Given the description of an element on the screen output the (x, y) to click on. 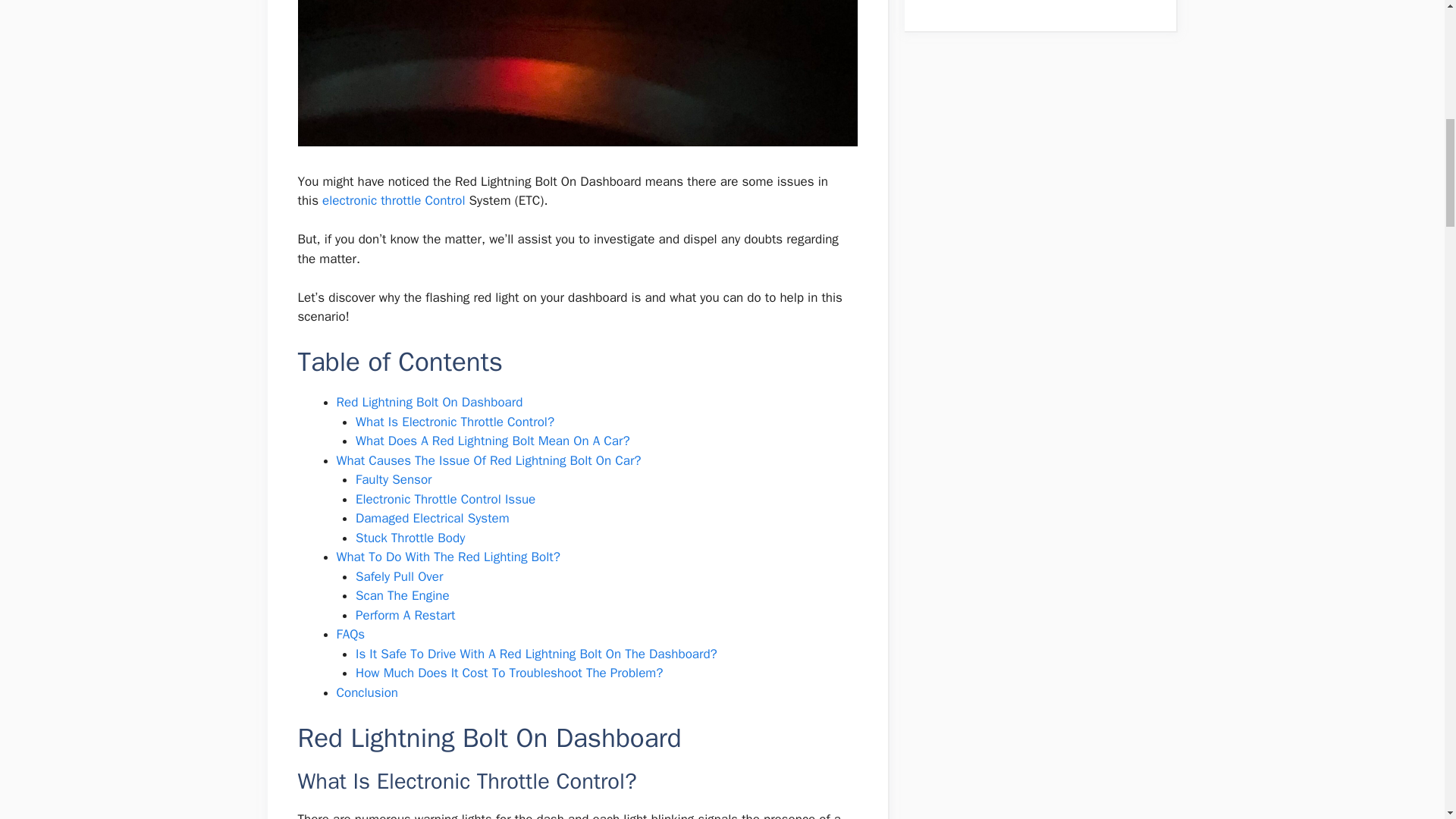
Stuck Throttle Body (409, 537)
Scroll back to top (1406, 720)
What Causes The Issue Of Red Lightning Bolt On Car? (489, 460)
What Does A Red Lightning Bolt Mean On A Car? (492, 440)
electronic throttle Control (392, 200)
Safely Pull Over (398, 576)
Faulty Sensor (393, 479)
Damaged Electrical System (432, 518)
What To Do With The Red Lighting Bolt? (448, 556)
What Is Electronic Throttle Control? (454, 421)
Red Lightning Bolt On Dashboard (429, 401)
FAQs (350, 634)
Perform A Restart (404, 615)
Scan The Engine (402, 595)
Electronic Throttle Control Issue (445, 498)
